Given the description of an element on the screen output the (x, y) to click on. 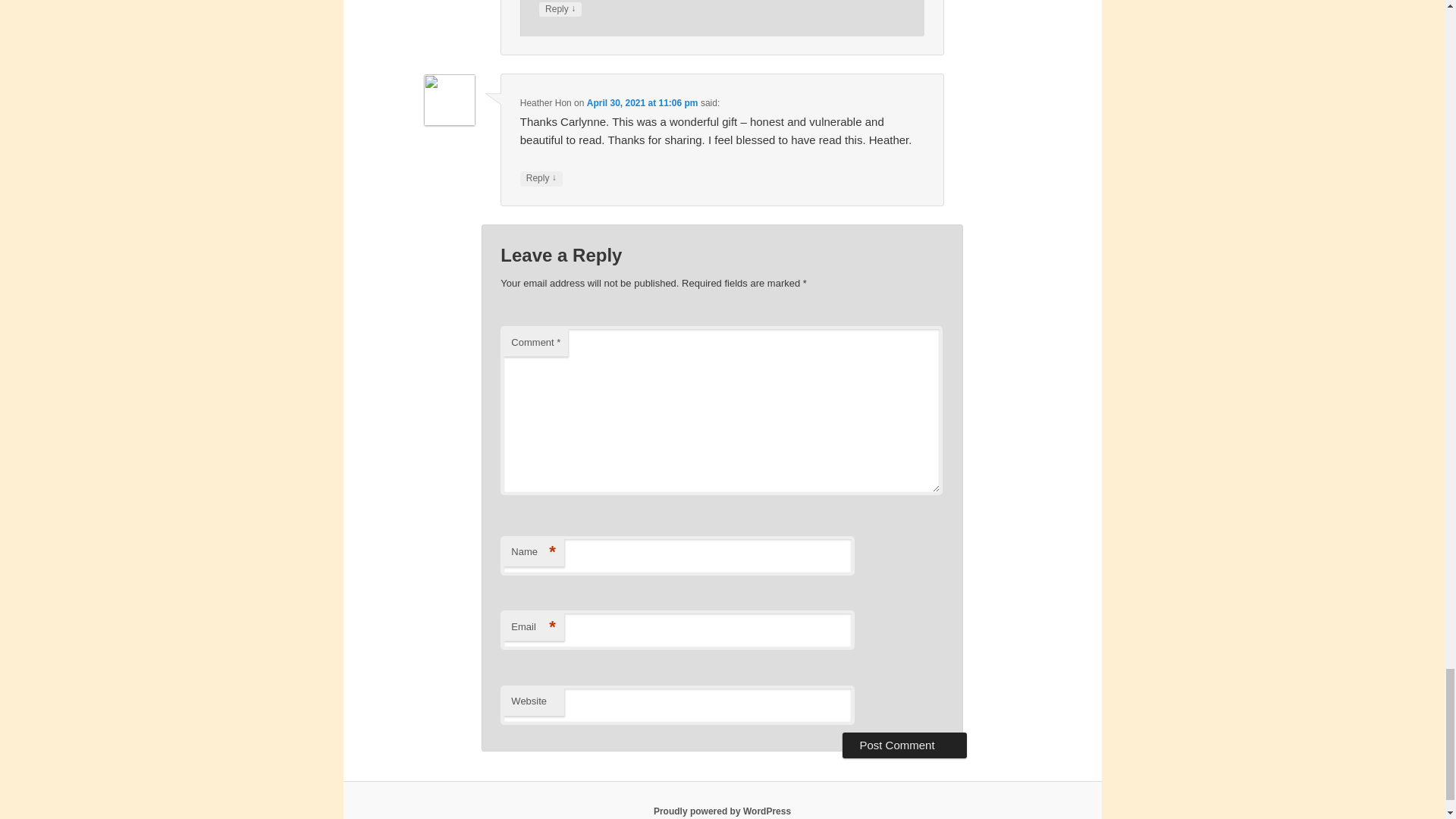
April 30, 2021 at 11:06 pm (642, 102)
Post Comment (904, 745)
Post Comment (904, 745)
Proudly powered by WordPress (721, 810)
Semantic Personal Publishing Platform (721, 810)
